Given the description of an element on the screen output the (x, y) to click on. 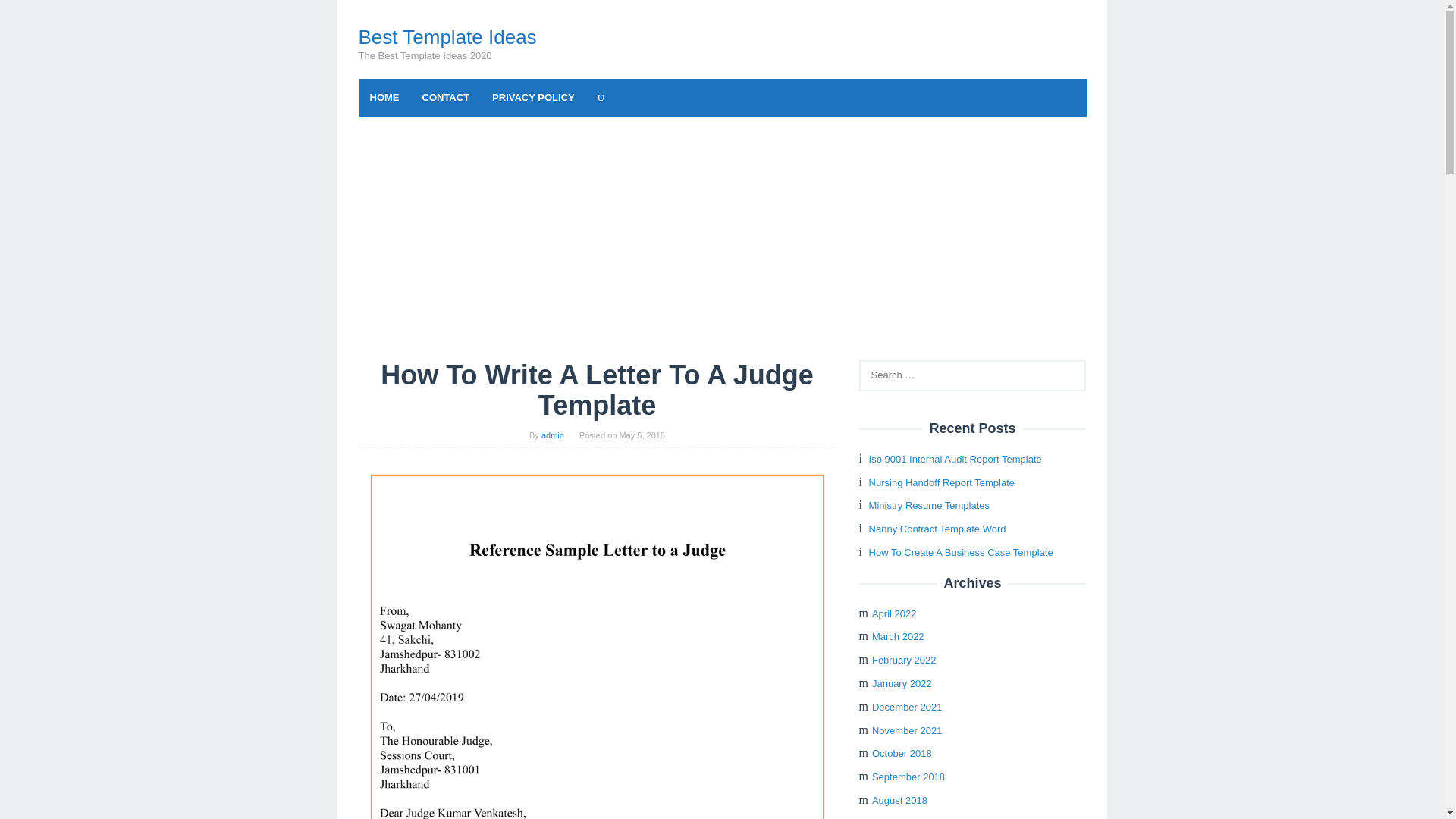
April 2022 (894, 613)
admin (552, 434)
Best Template Ideas (446, 36)
Ministry Resume Templates (929, 505)
Iso 9001 Internal Audit Report Template (955, 459)
Best Template Ideas (446, 36)
HOME (384, 97)
Nanny Contract Template Word (937, 528)
Nursing Handoff Report Template (941, 482)
CONTACT (445, 97)
